Given the description of an element on the screen output the (x, y) to click on. 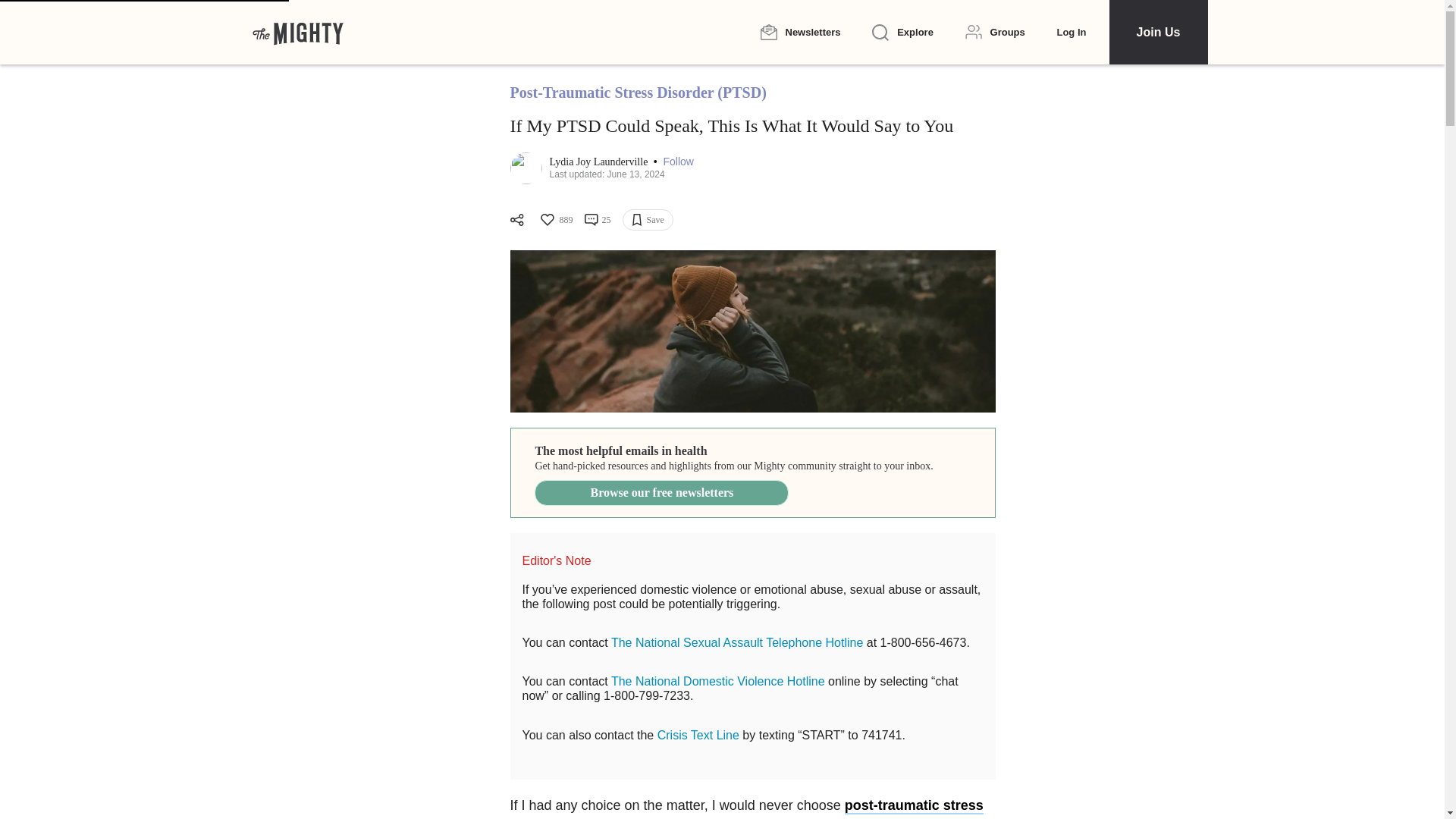
The National Sexual Assault Telephone Hotline (737, 642)
25 (596, 219)
Join Us (1157, 32)
Follow (677, 161)
Crisis Text Line (698, 735)
Save (646, 219)
889 (555, 219)
Groups (995, 32)
Newsletters (800, 31)
post-traumatic stress disorder (745, 808)
